Given the description of an element on the screen output the (x, y) to click on. 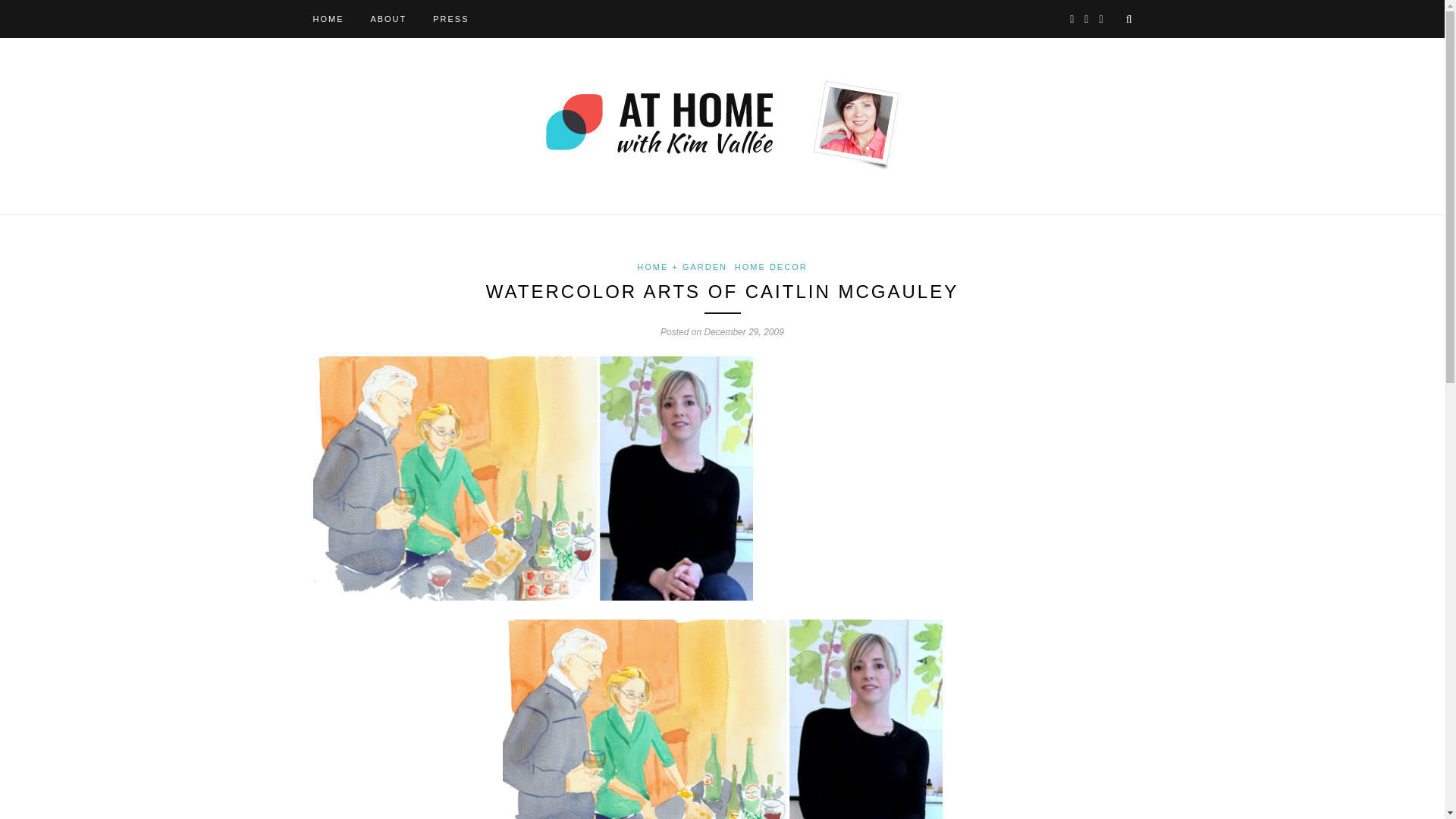
PRESS (450, 18)
About this family lifestyle blog (387, 18)
HOME DECOR (771, 266)
ABOUT (387, 18)
new-york based watercolor artist Caitlin McGauley (722, 719)
